Given the description of an element on the screen output the (x, y) to click on. 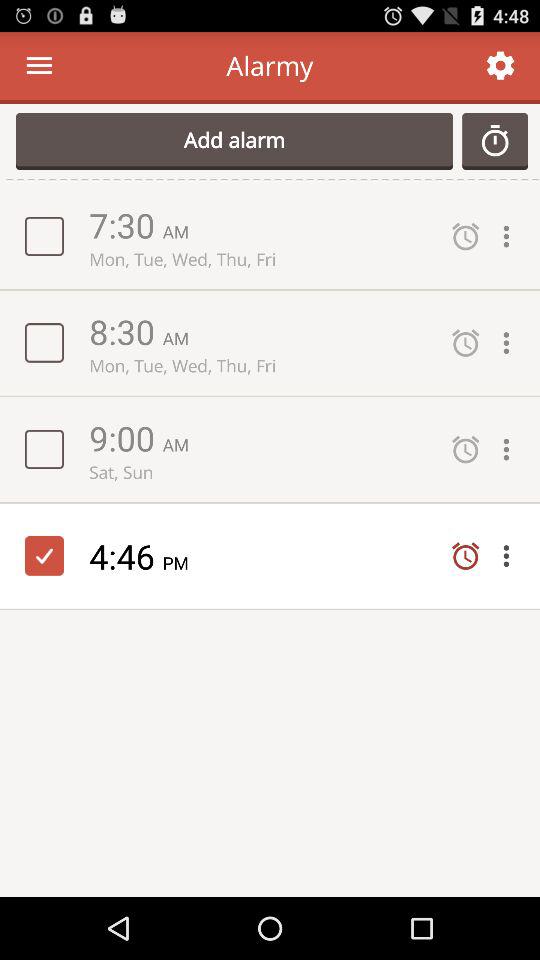
turn off the item below 9:00 icon (259, 471)
